Given the description of an element on the screen output the (x, y) to click on. 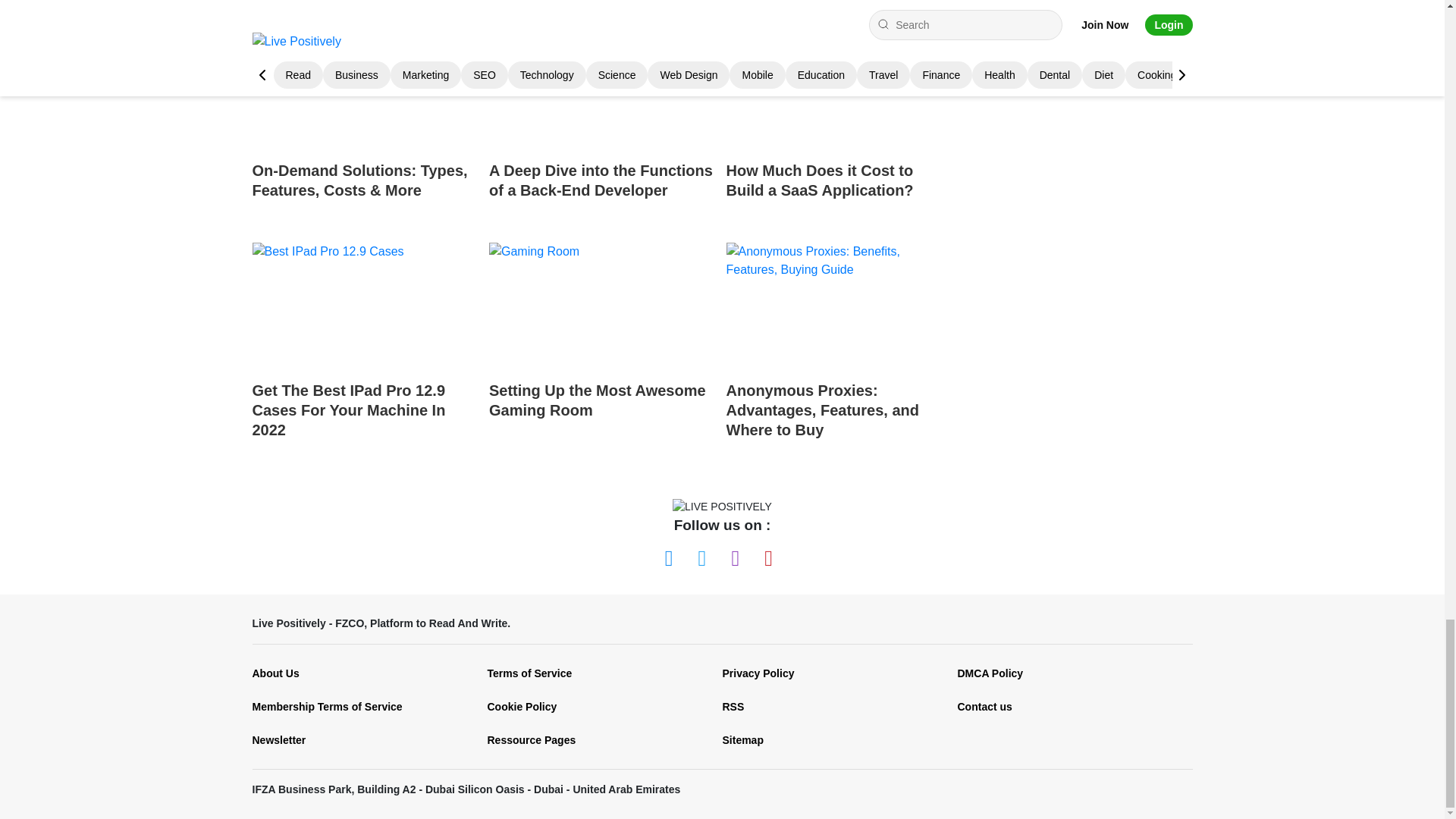
Anonymous Proxies: Benefits, Features, Buying Guide (839, 305)
Setting Up the Most Awesome Gaming Room (601, 344)
Get The Best IPad Pro 12.9 Cases For Your Machine In 2022 (364, 344)
On-Demand Solutions (364, 85)
A Deep Dive into the Functions of a Back-End Developer (601, 124)
Best IPad Pro 12.9 Cases (364, 305)
Anonymous Proxies: Advantages, Features, and Where to Buy (839, 344)
SaaS App (839, 85)
A Deep Dive into the Functions of a Back-End Developer (601, 85)
How Much Does it Cost to Build a SaaS Application? (839, 124)
Gaming Room (601, 305)
